Given the description of an element on the screen output the (x, y) to click on. 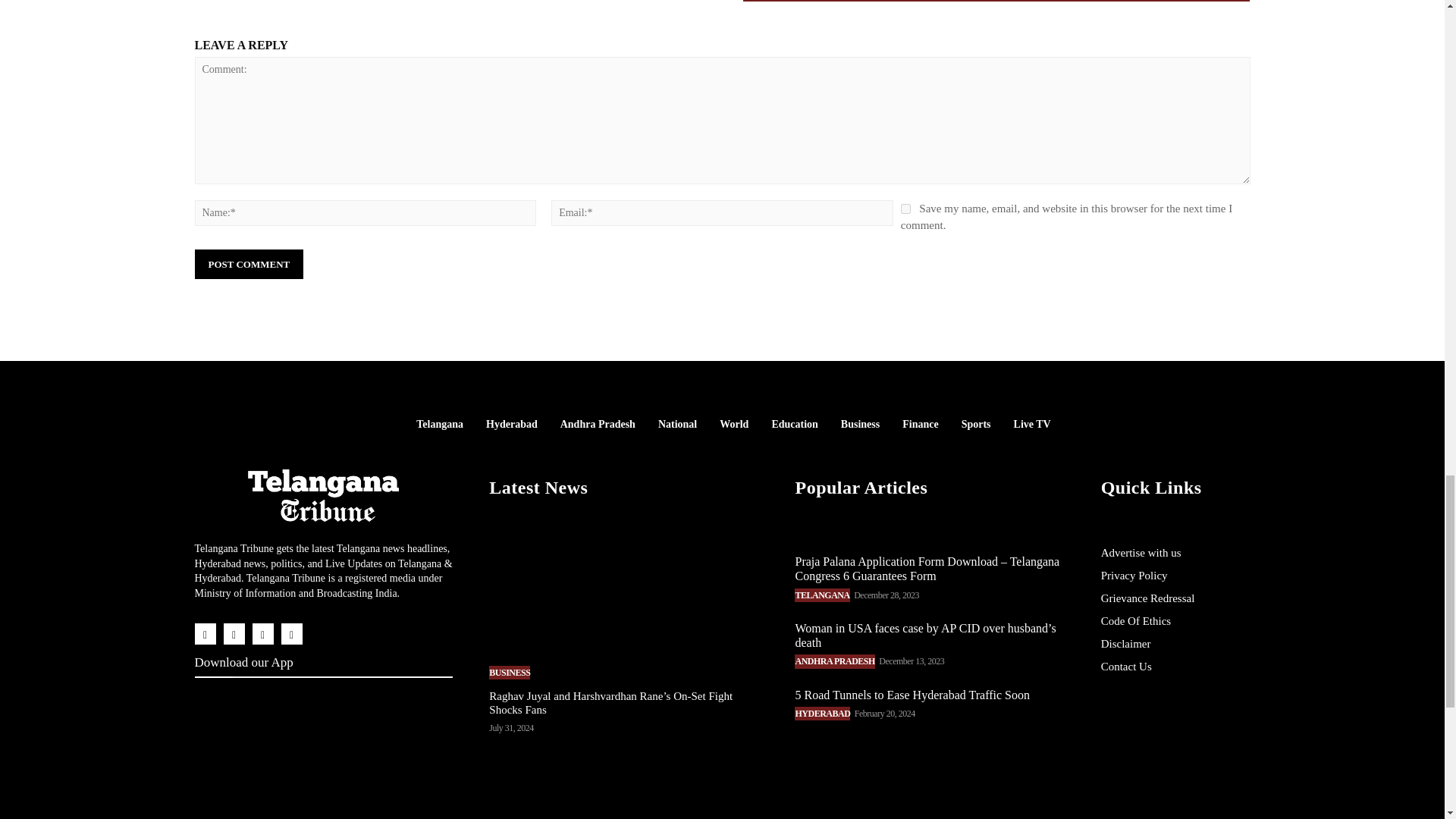
yes (906, 208)
Post Comment (247, 264)
